Given the description of an element on the screen output the (x, y) to click on. 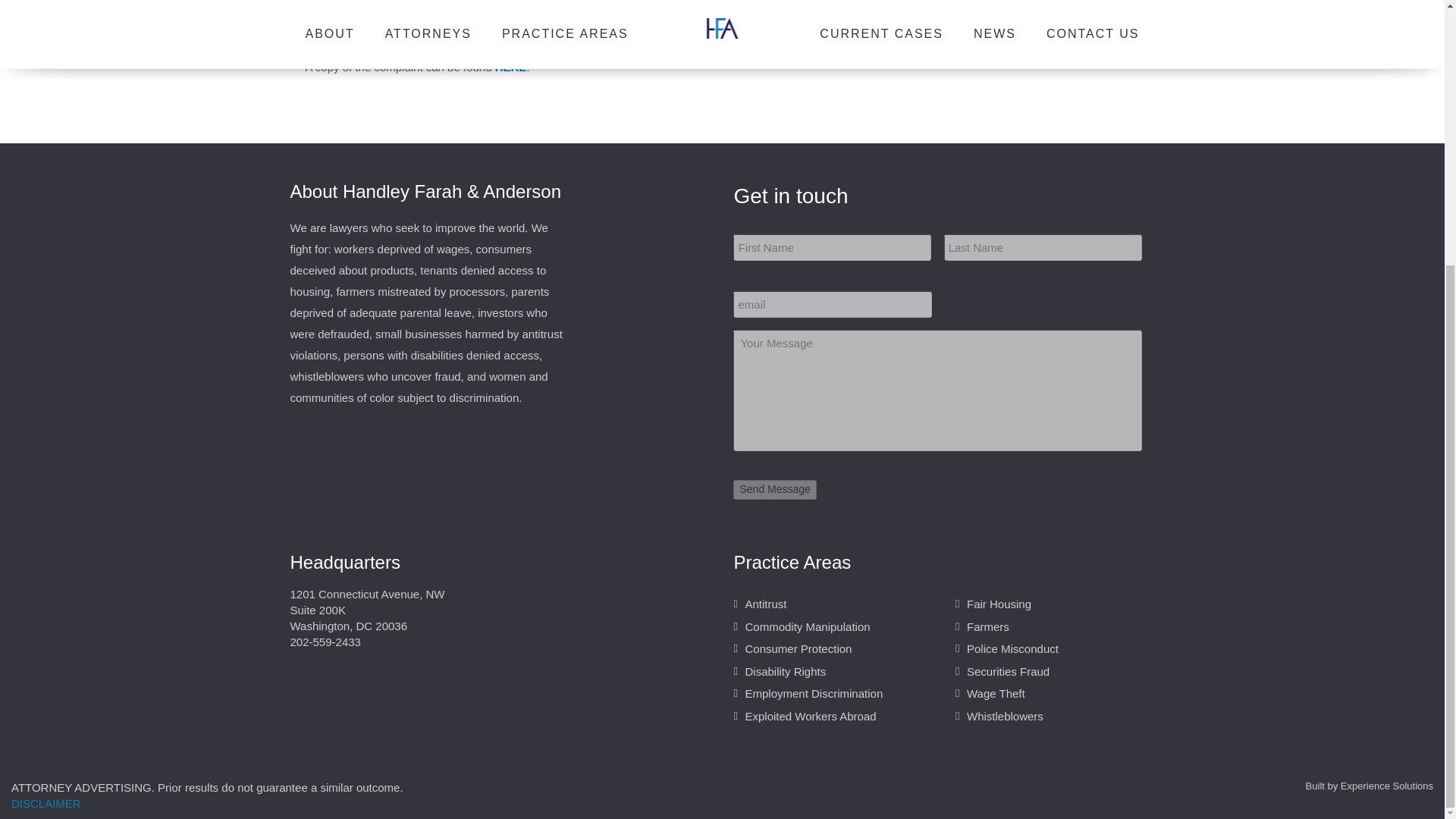
Consumer Protection (797, 648)
Exploited Workers Abroad (810, 716)
Send Message (774, 489)
HERE (511, 66)
Send Message (774, 489)
Employment Discrimination (813, 693)
Disability Rights (784, 671)
Commodity Manipulation (806, 626)
Antitrust (765, 603)
